Given the description of an element on the screen output the (x, y) to click on. 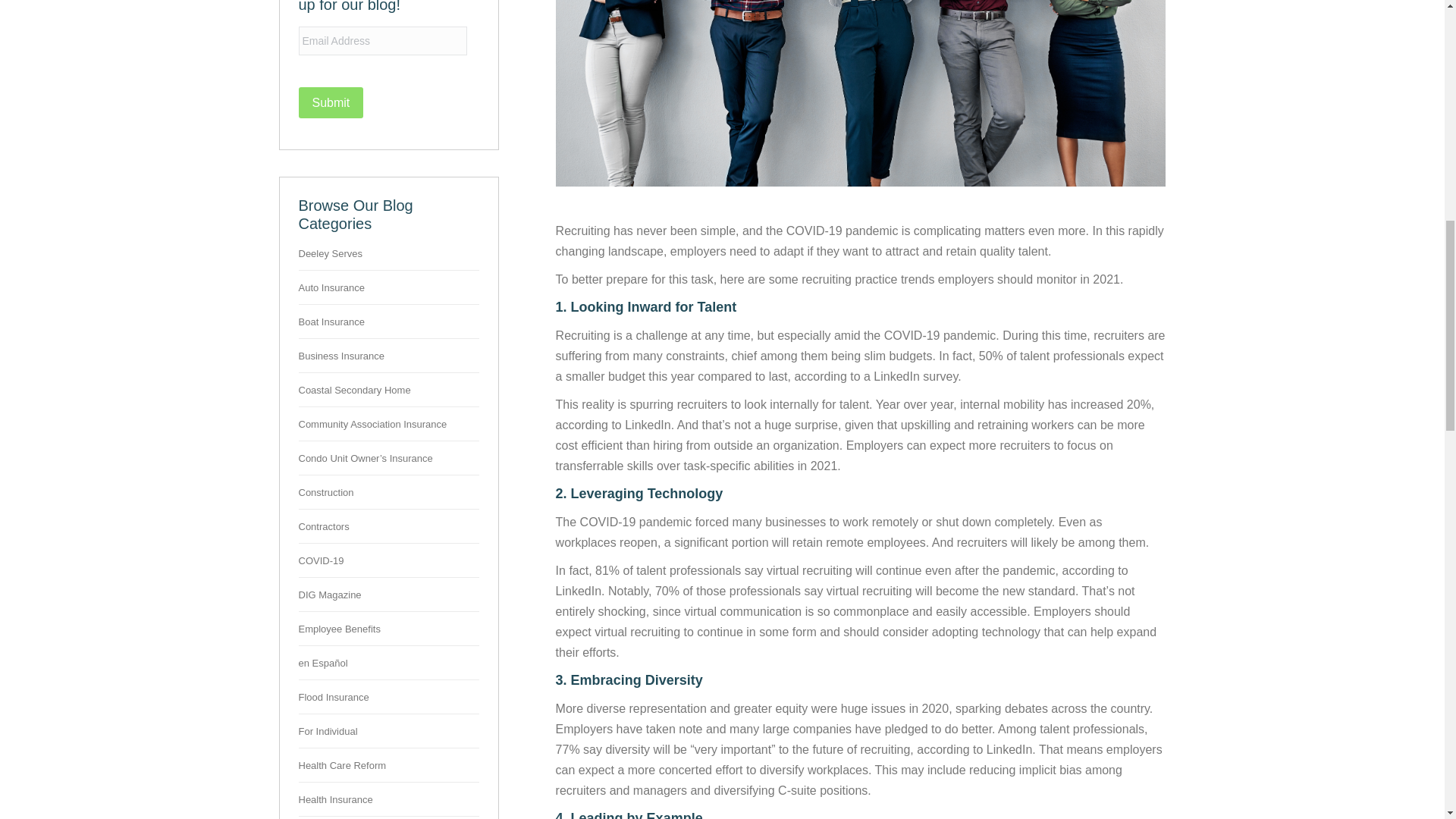
HR trends (861, 93)
Submit (331, 101)
